Given the description of an element on the screen output the (x, y) to click on. 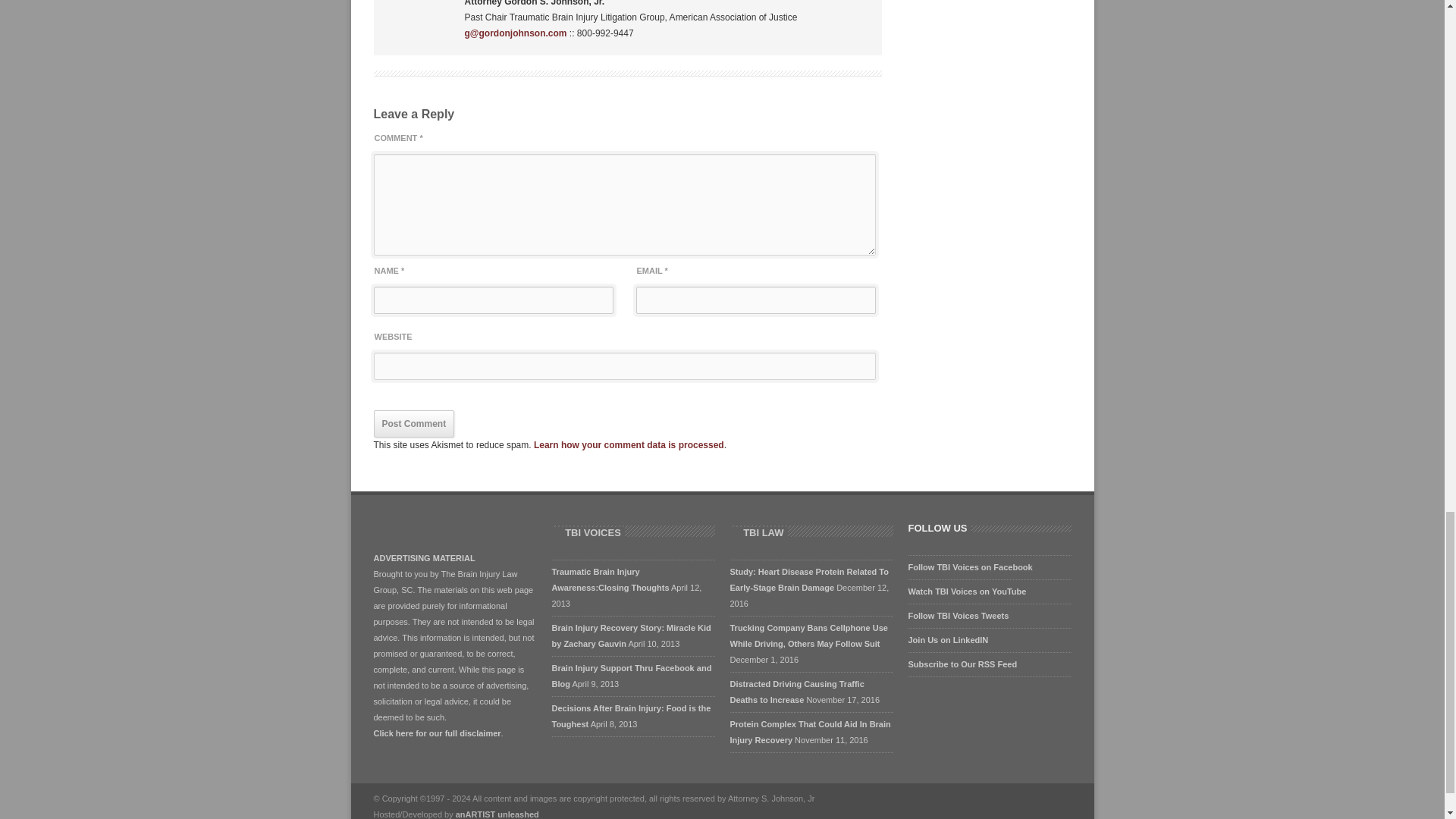
Learn how your comment data is processed (628, 444)
Post Comment (413, 423)
Post Comment (413, 423)
